Given the description of an element on the screen output the (x, y) to click on. 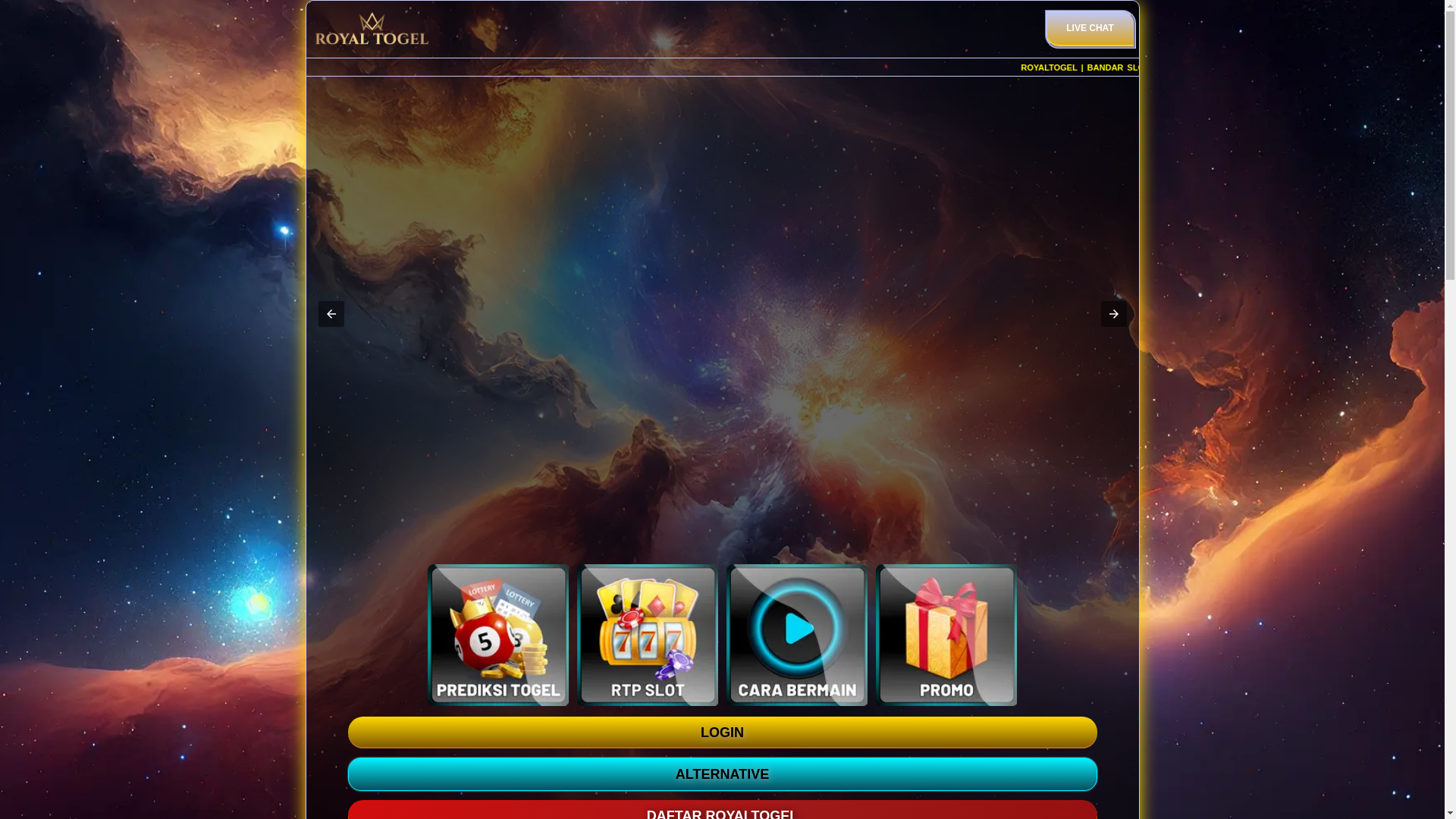
LIVE CHAT (1090, 28)
ALTERNATIVE (721, 774)
LOGIN (721, 732)
DAFTAR ROYALTOGEL (721, 809)
